Given the description of an element on the screen output the (x, y) to click on. 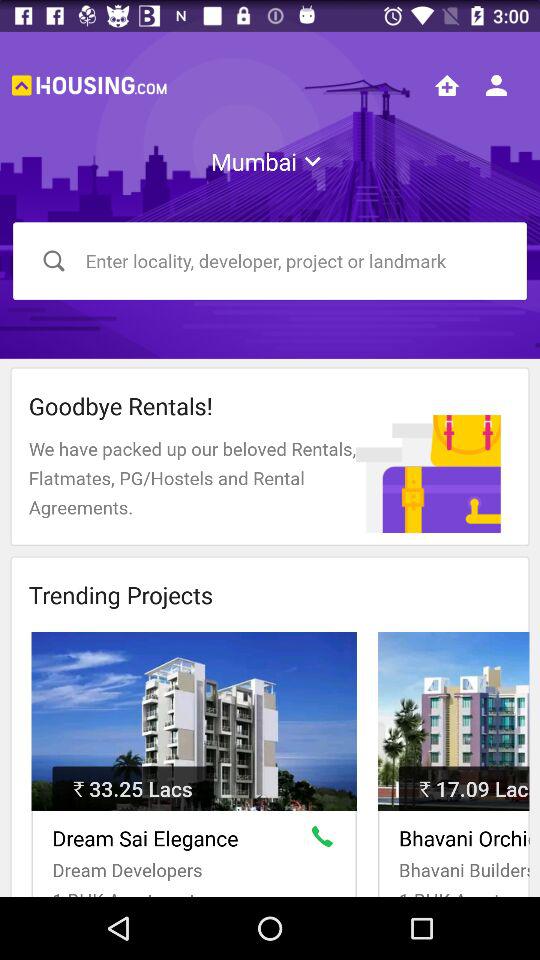
choose profile (496, 85)
